Given the description of an element on the screen output the (x, y) to click on. 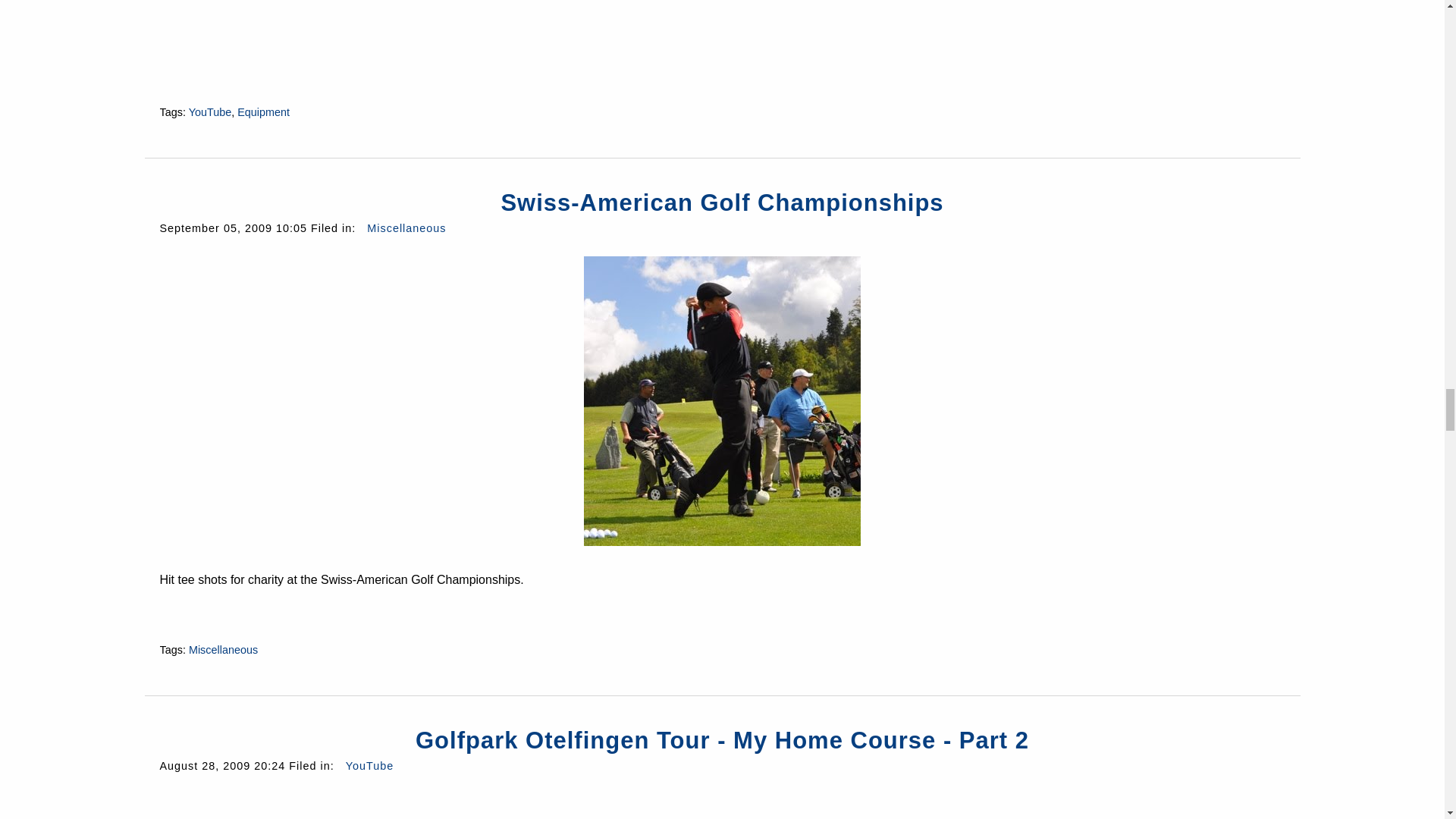
Miscellaneous (223, 649)
Equipment (263, 111)
YouTube (210, 111)
